Given the description of an element on the screen output the (x, y) to click on. 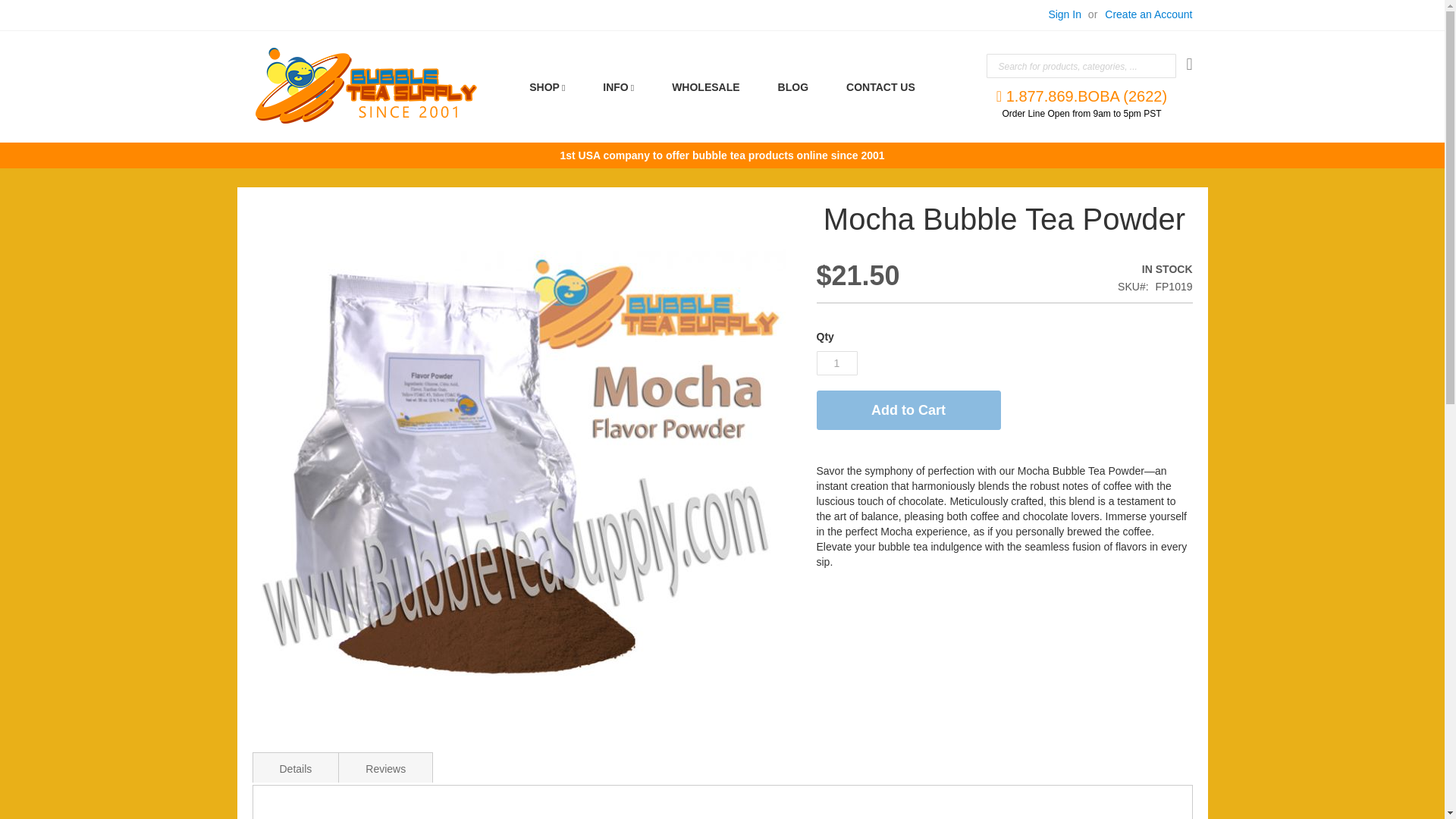
Add to Cart (907, 409)
Create an Account (1148, 14)
Sign In (1064, 14)
Bubble Tea Supply (365, 85)
Availability (1064, 269)
1 (836, 363)
Qty (836, 363)
